Given the description of an element on the screen output the (x, y) to click on. 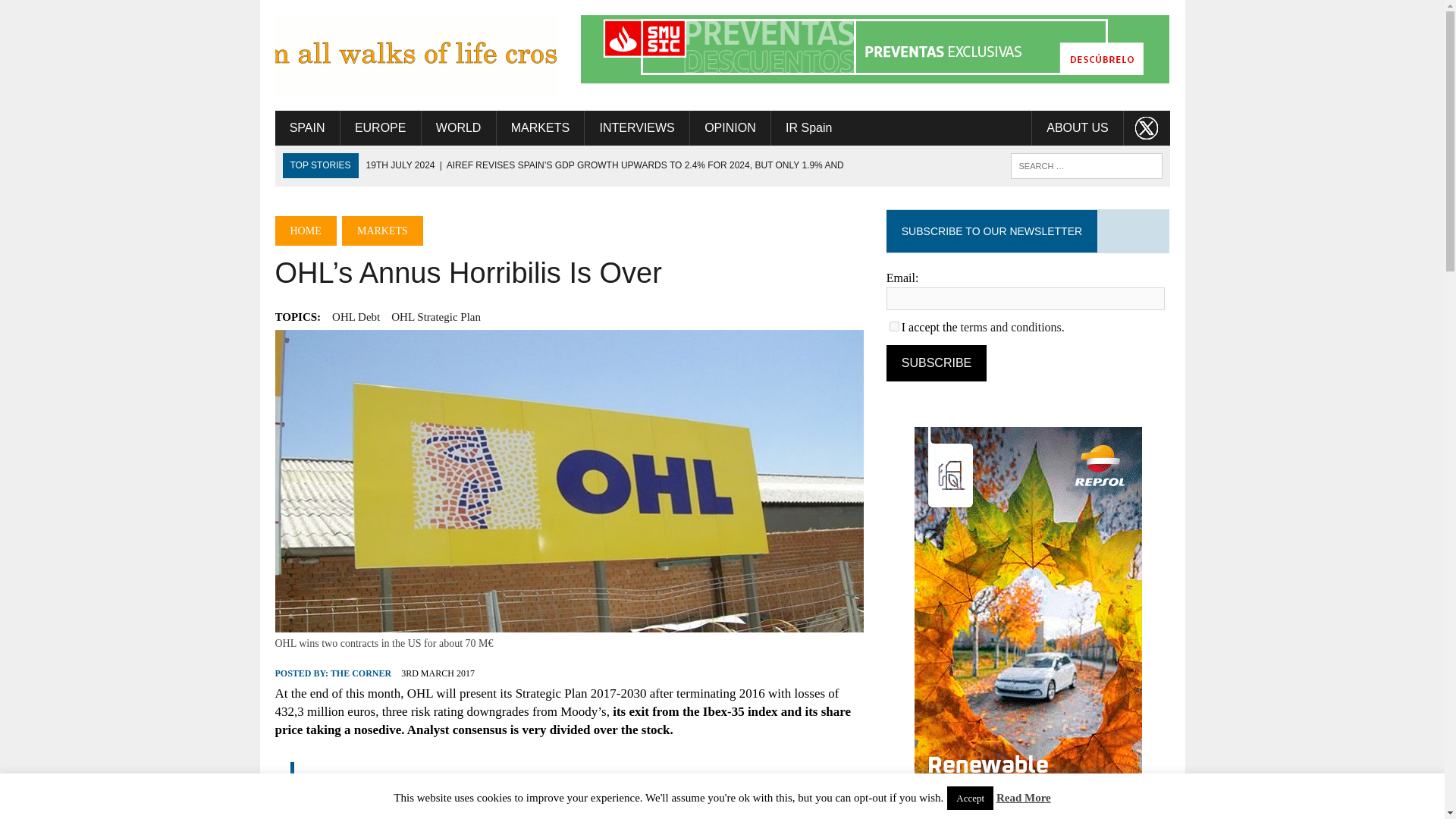
1 (894, 326)
SPAIN (307, 127)
SUBSCRIBE (936, 362)
advertisement (875, 49)
MARKETS (540, 127)
INTERVIEWS (636, 127)
The Corner (416, 55)
EUROPE (380, 127)
WORLD (459, 127)
